Given the description of an element on the screen output the (x, y) to click on. 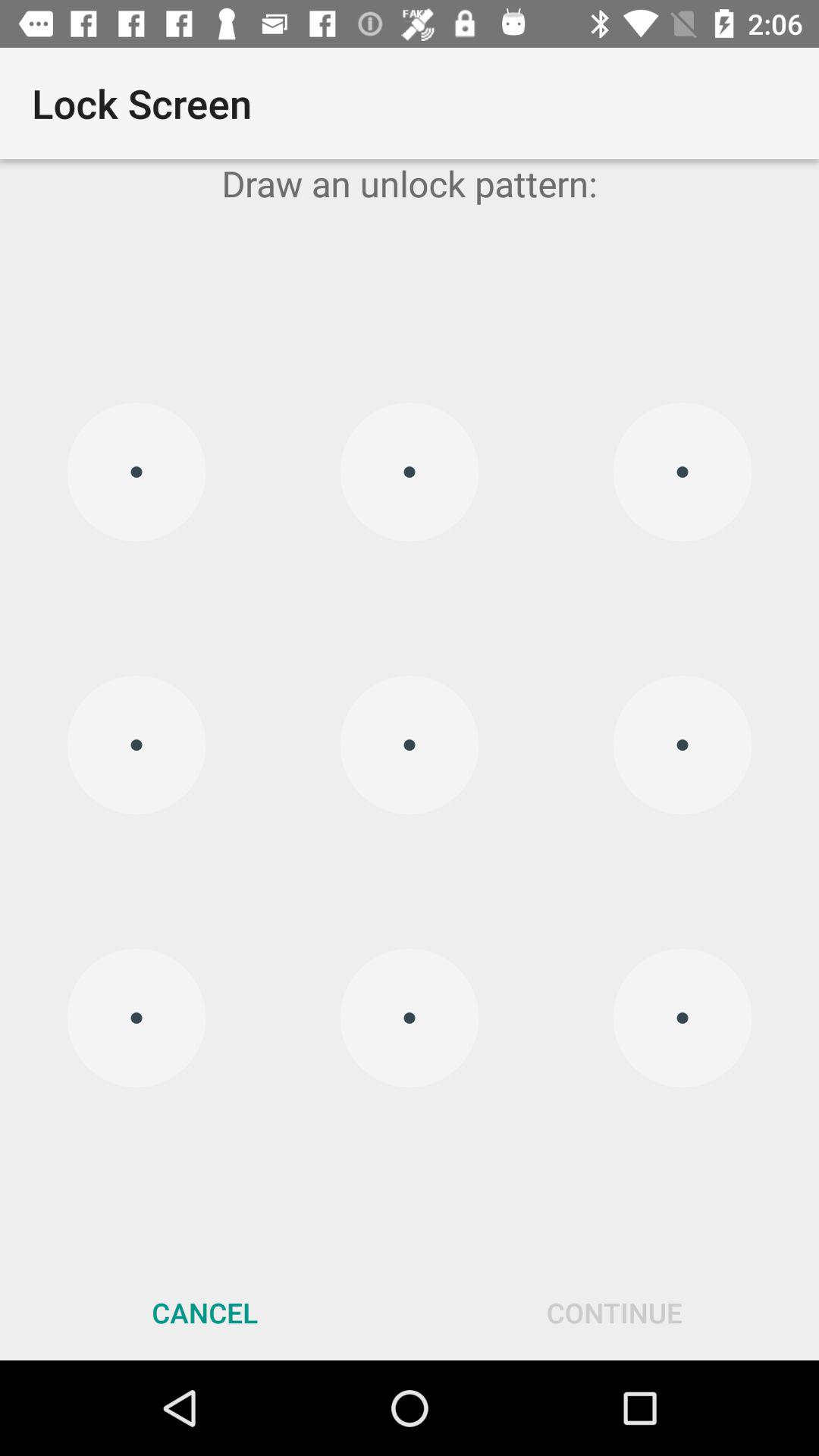
launch the icon next to cancel button (614, 1312)
